Given the description of an element on the screen output the (x, y) to click on. 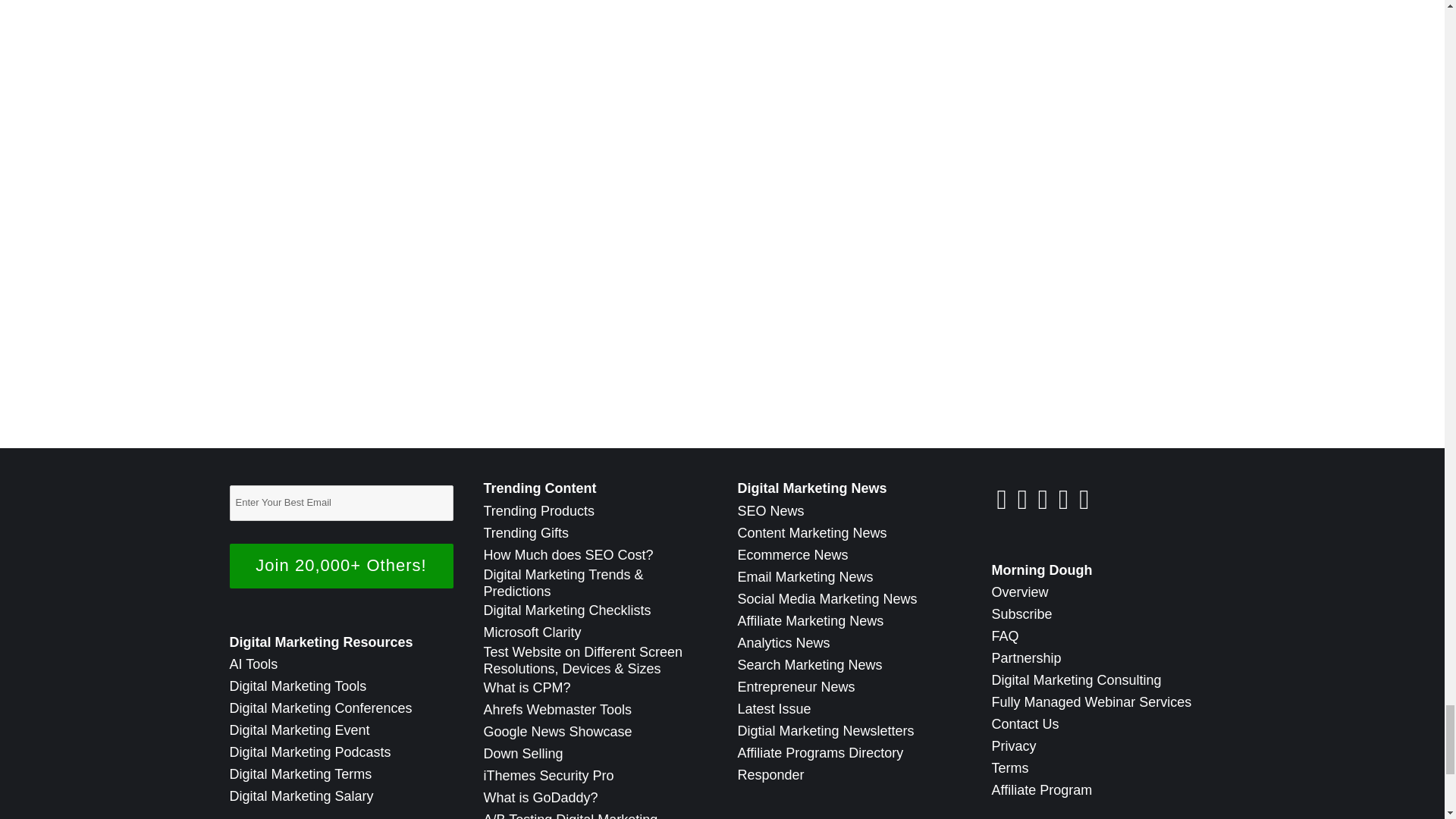
AI Tools (253, 663)
